Given the description of an element on the screen output the (x, y) to click on. 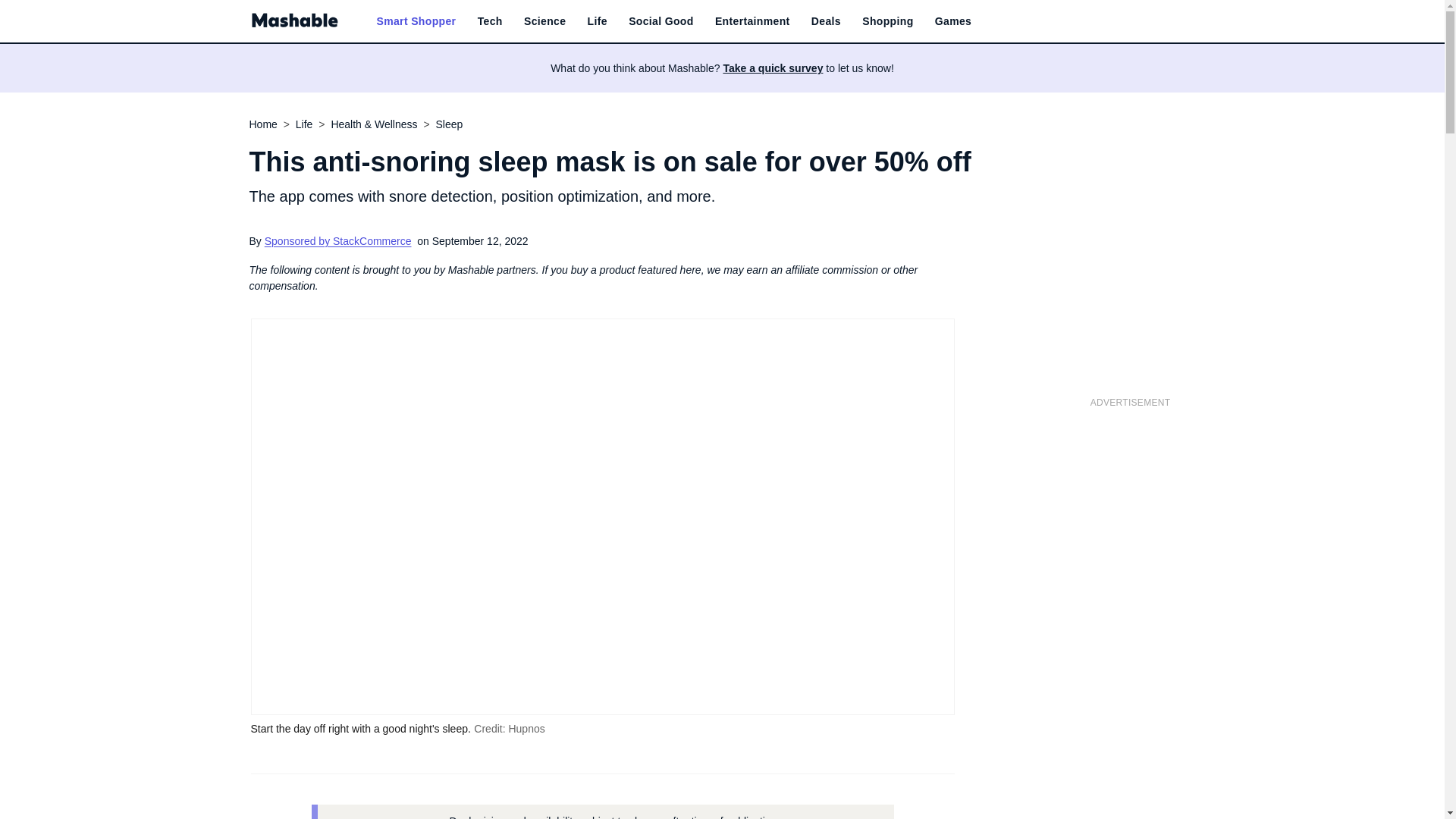
Shopping (886, 21)
Social Good (661, 21)
Entertainment (752, 21)
Life (597, 21)
Smart Shopper (415, 21)
Games (952, 21)
Deals (825, 21)
Science (545, 21)
Tech (489, 21)
